Given the description of an element on the screen output the (x, y) to click on. 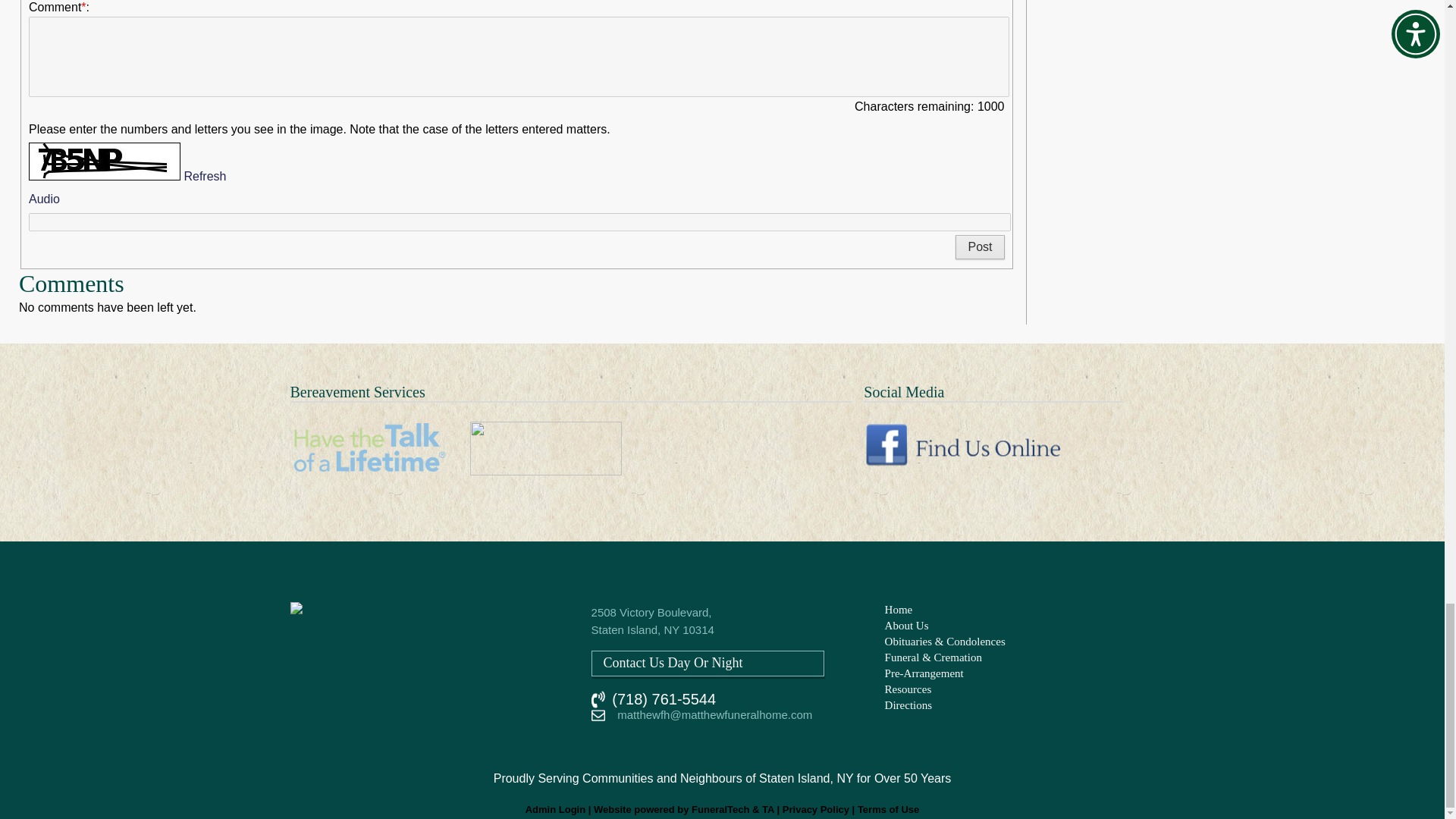
Post (979, 247)
Refresh (204, 175)
